Given the description of an element on the screen output the (x, y) to click on. 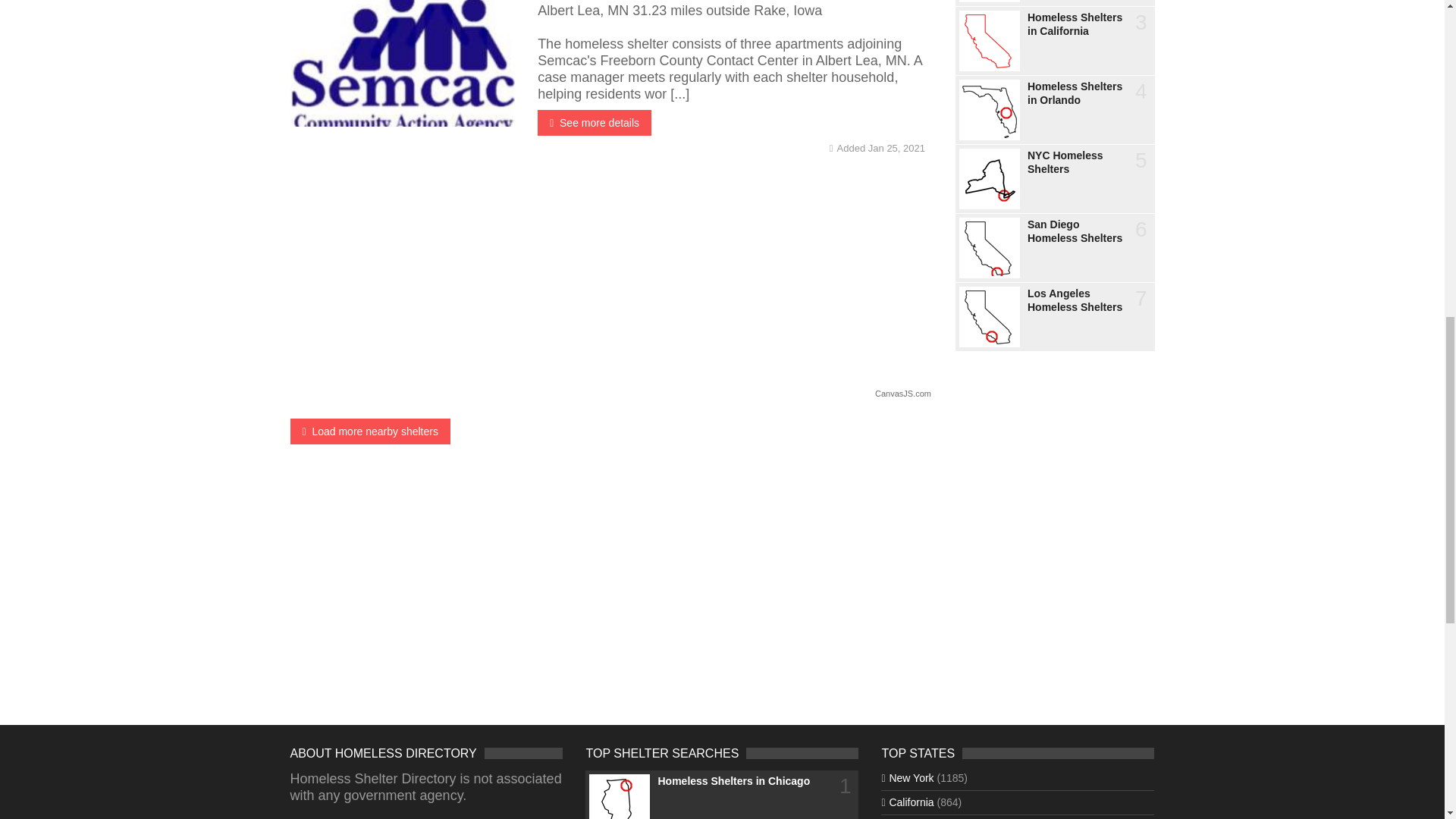
CanvasJS.com (903, 393)
  Load more nearby shelters (369, 431)
JavaScript Charts (903, 393)
  See more details (593, 122)
